Given the description of an element on the screen output the (x, y) to click on. 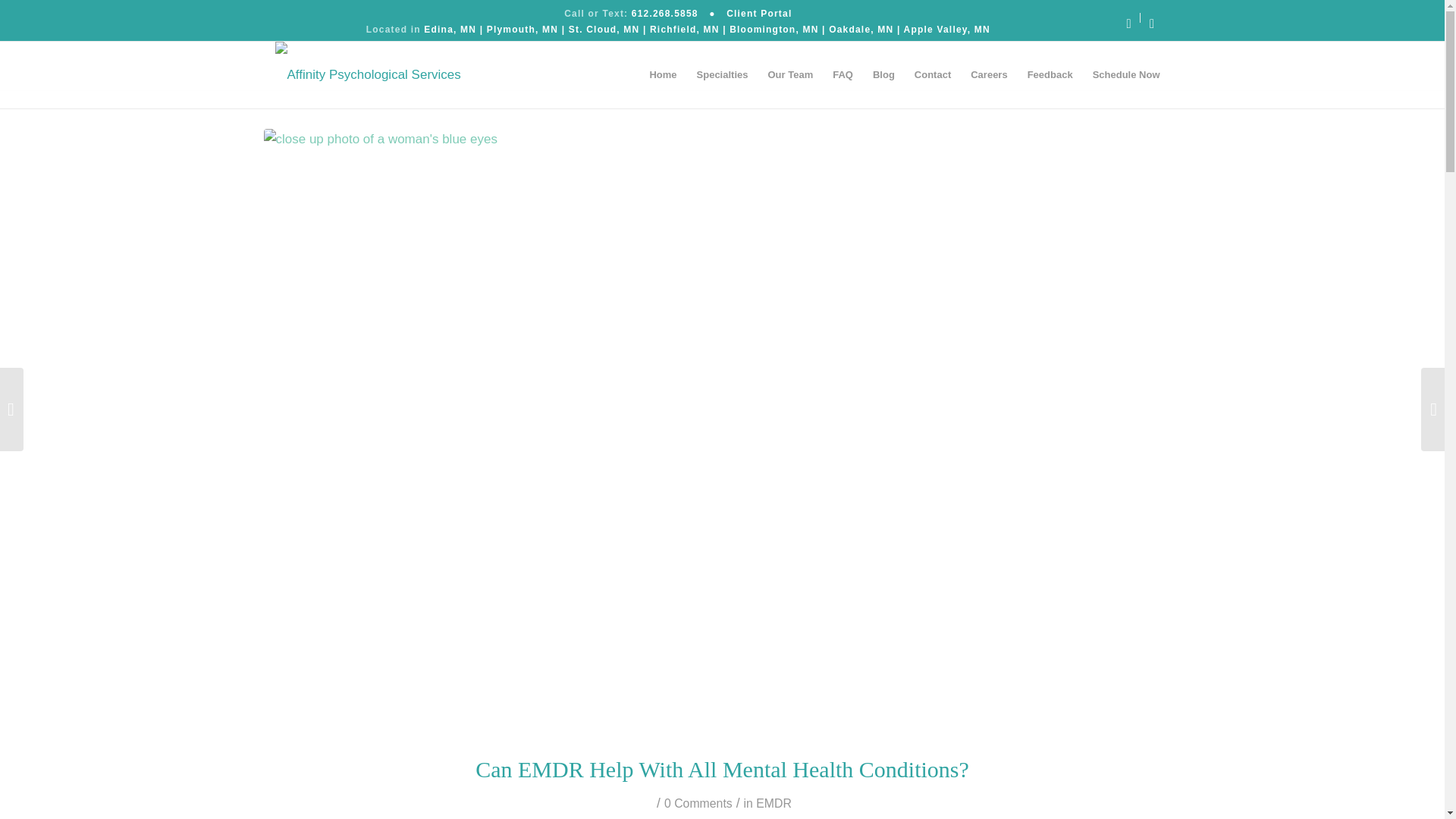
Client Portal (759, 13)
Our Team (789, 74)
AffinityLogo-new-1 (367, 72)
Instagram (1151, 24)
AffinityLogo-new-1 (367, 74)
Facebook (1129, 24)
612.268.5858 (664, 13)
Specialties (722, 74)
